Given the description of an element on the screen output the (x, y) to click on. 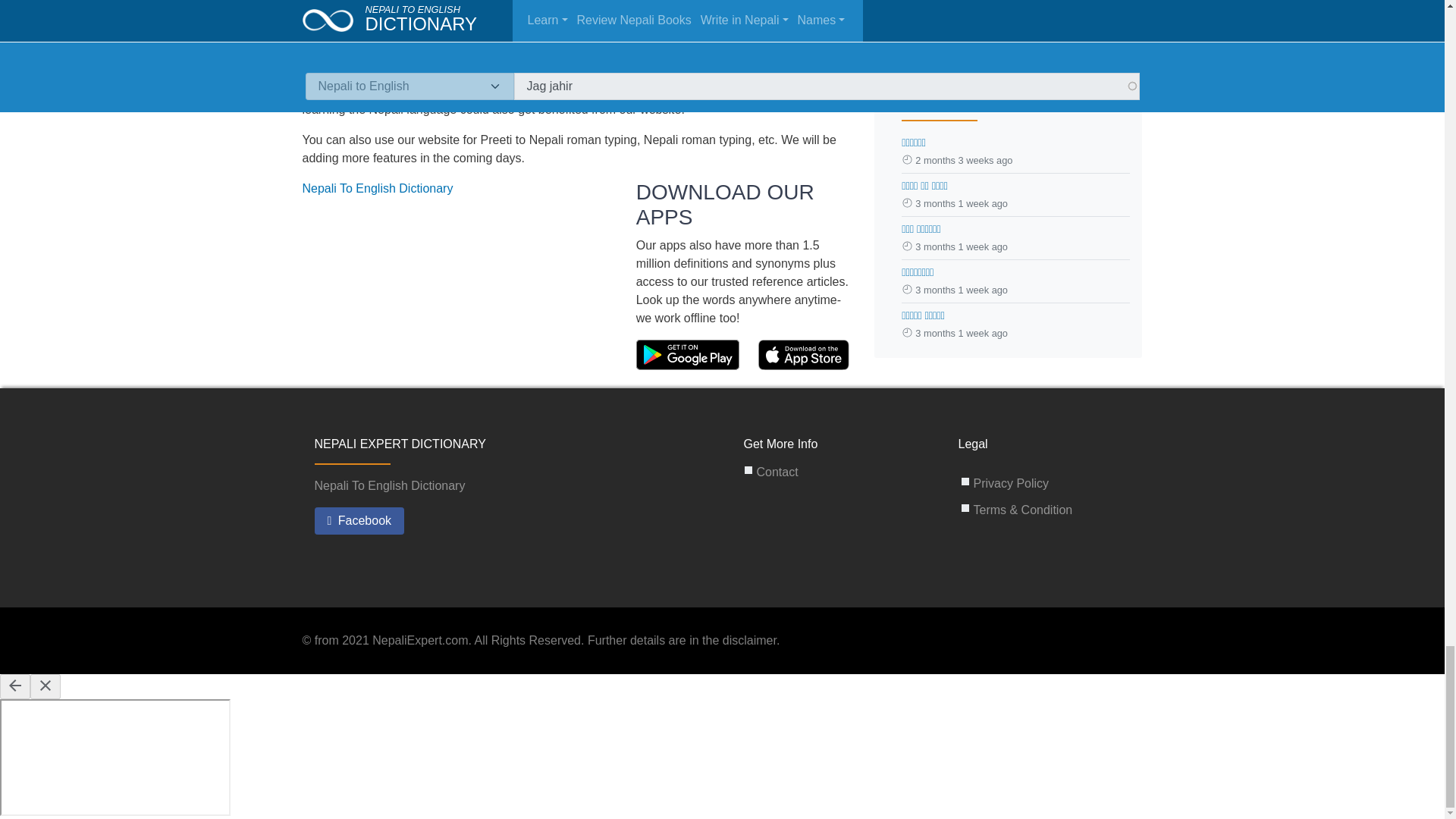
Created with sketchtool. (687, 354)
